Given the description of an element on the screen output the (x, y) to click on. 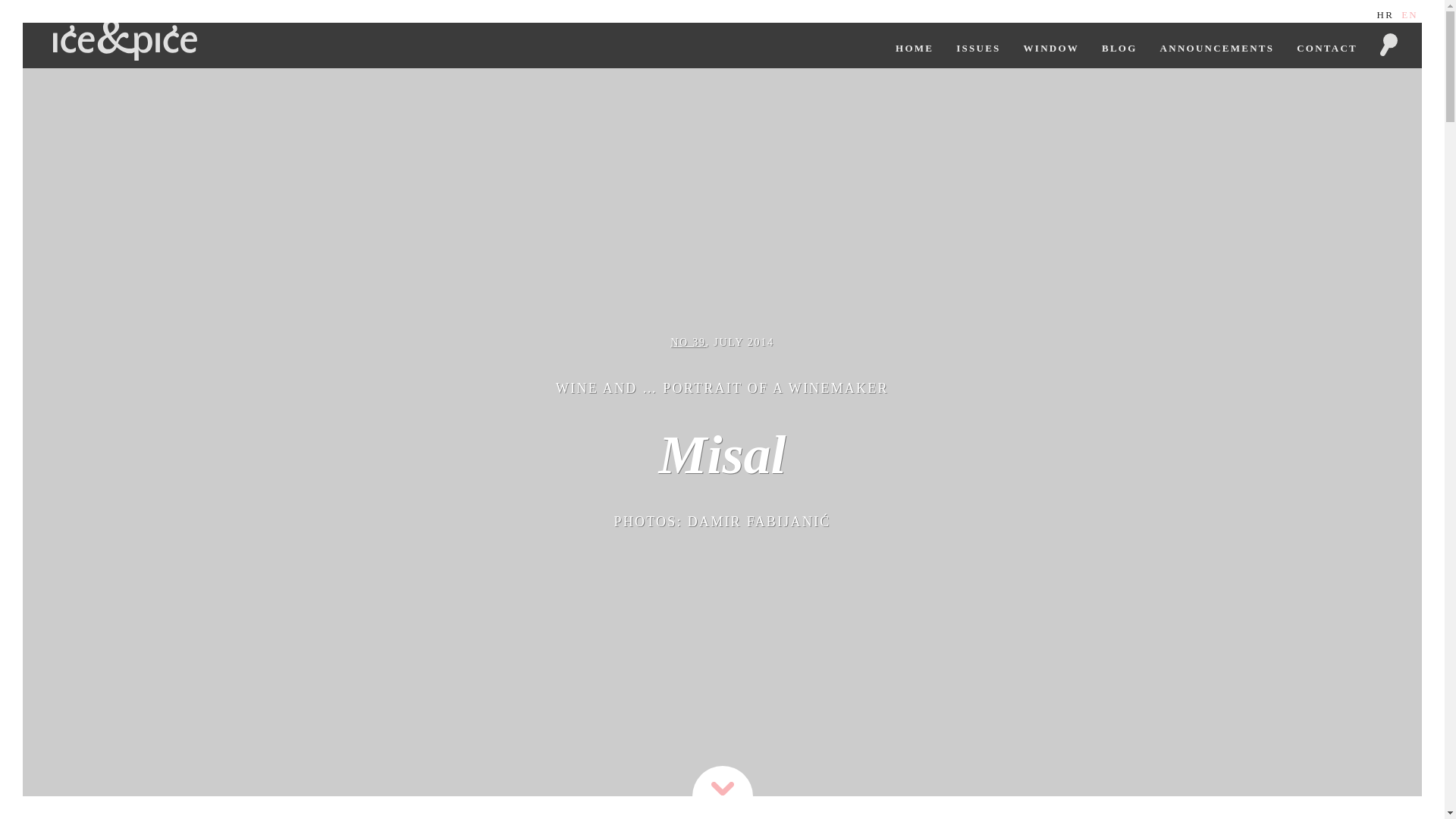
NO 39 (686, 342)
home (914, 45)
window (1051, 45)
announcements (1217, 45)
blog (1119, 45)
contact (1326, 45)
issues (978, 45)
hr (1385, 13)
